Given the description of an element on the screen output the (x, y) to click on. 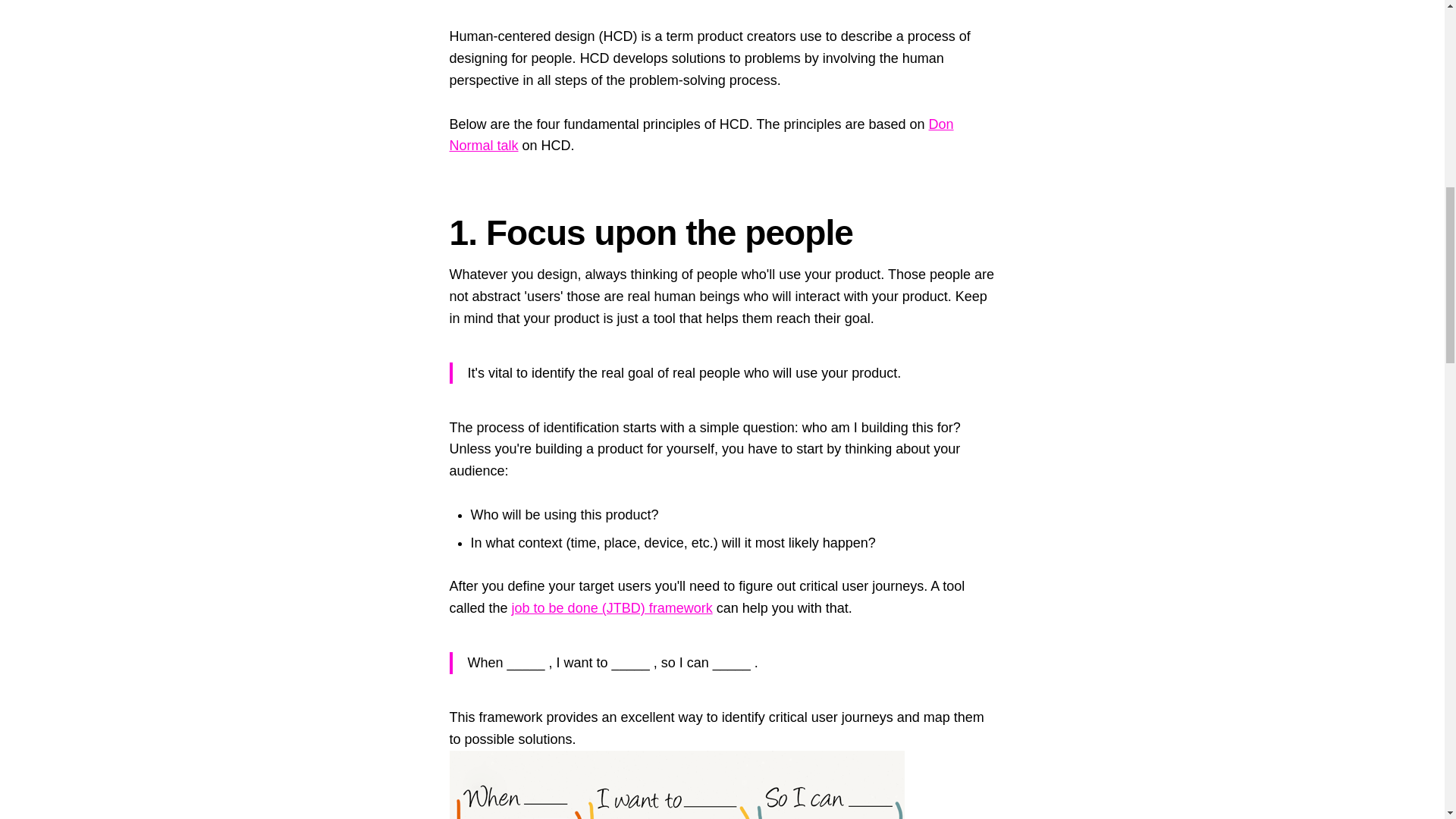
Don Normal talk (700, 135)
